Given the description of an element on the screen output the (x, y) to click on. 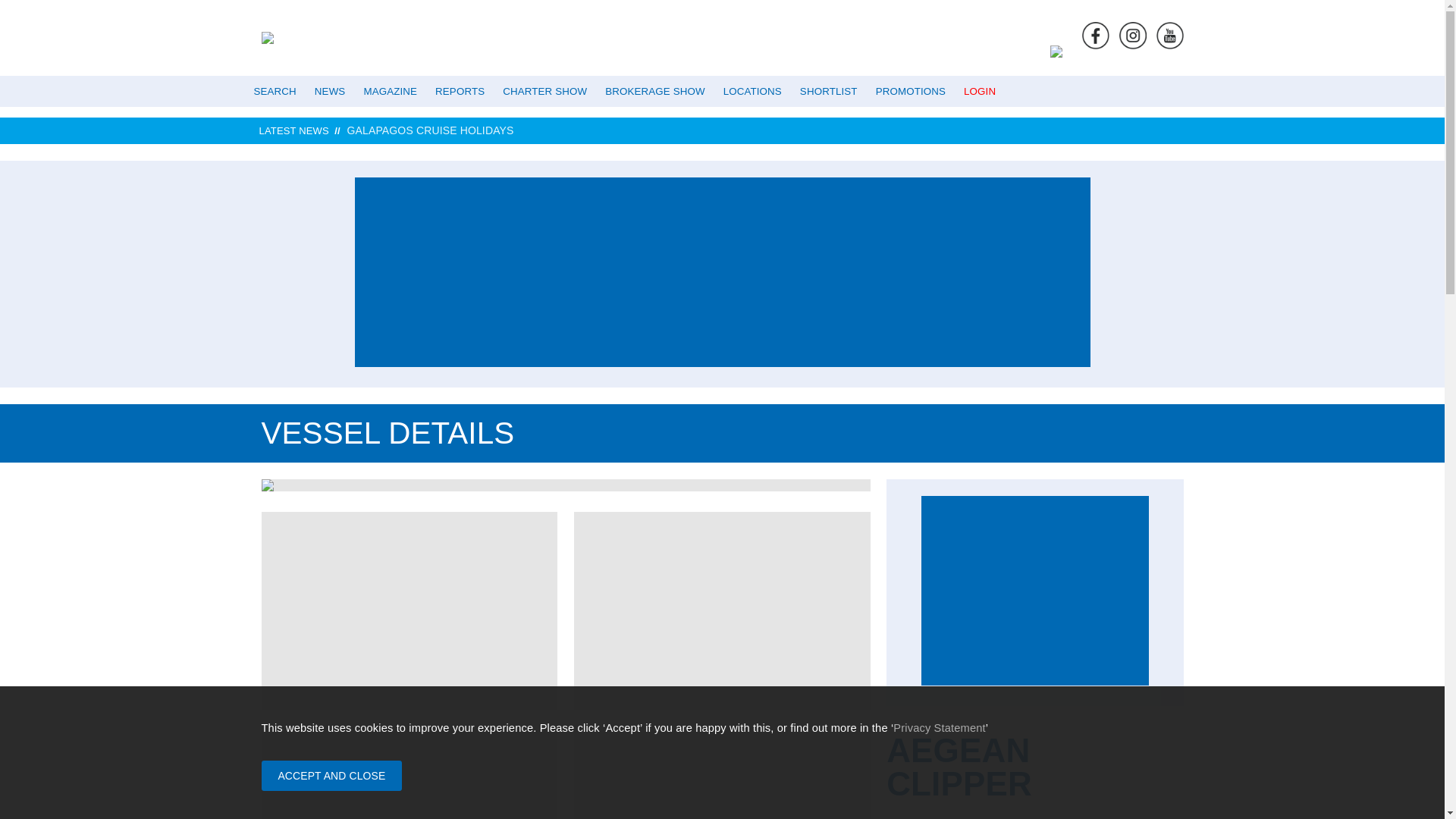
BROKERAGE SHOW (654, 91)
REPORTS (459, 91)
SEARCH (274, 91)
PROMOTIONS (910, 91)
MAGAZINE (389, 91)
GALAPAGOS CRUISE HOLIDAYS (771, 130)
NEWS (330, 91)
SHORTLIST (828, 91)
LOCATIONS (752, 91)
LOGIN (979, 91)
